Given the description of an element on the screen output the (x, y) to click on. 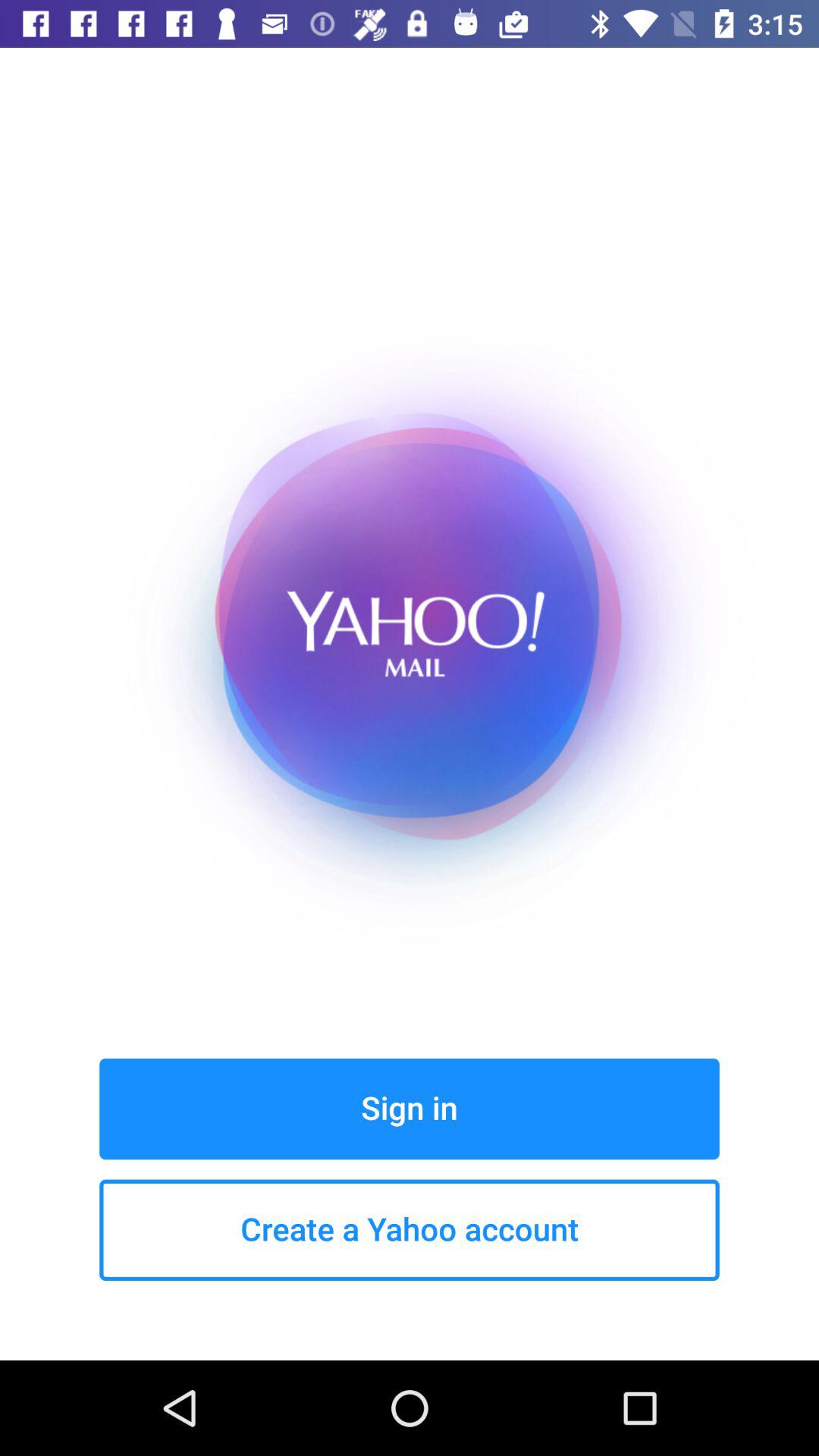
swipe until the sign in item (409, 1108)
